Given the description of an element on the screen output the (x, y) to click on. 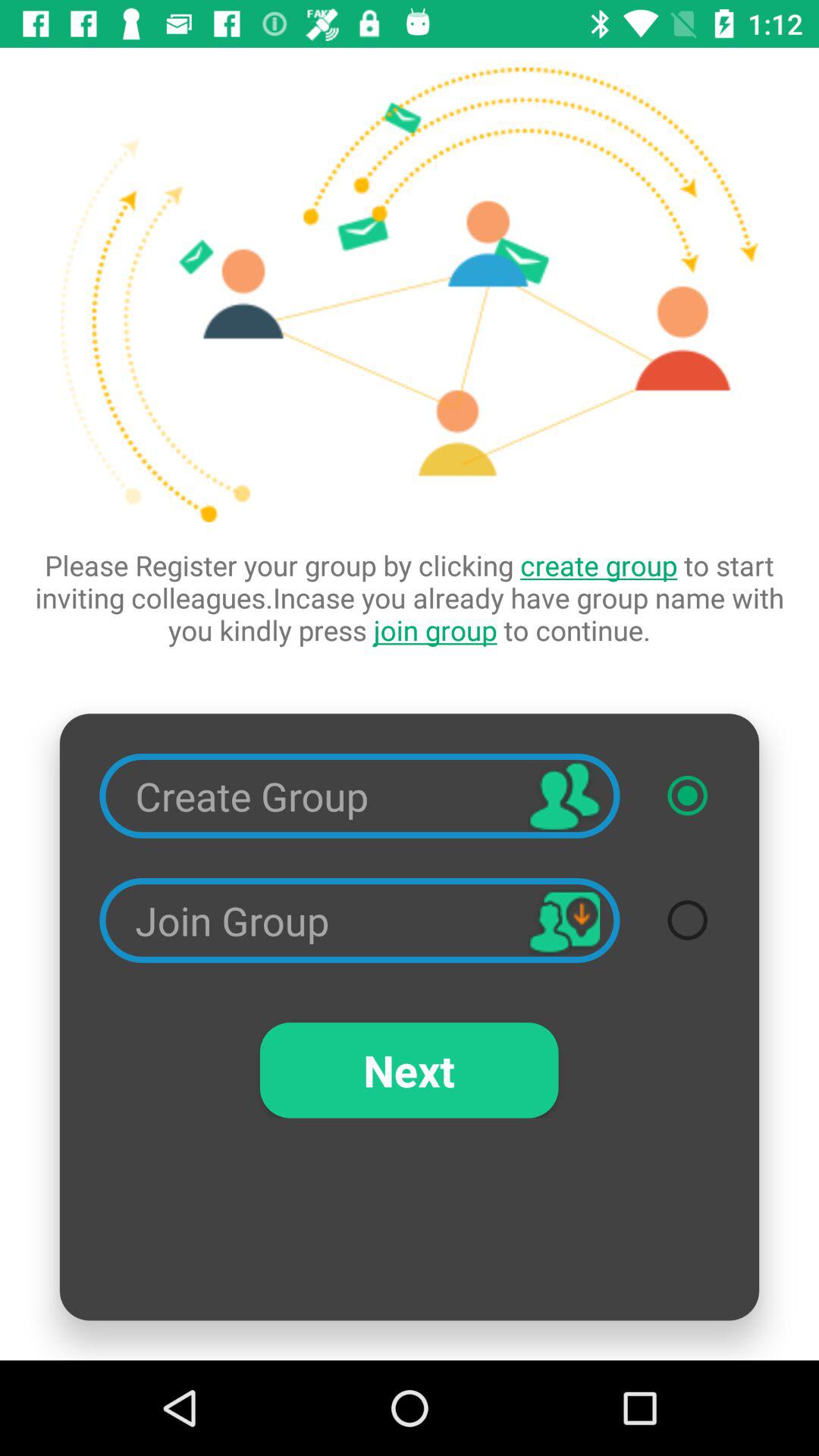
jump until the please register your (409, 597)
